Given the description of an element on the screen output the (x, y) to click on. 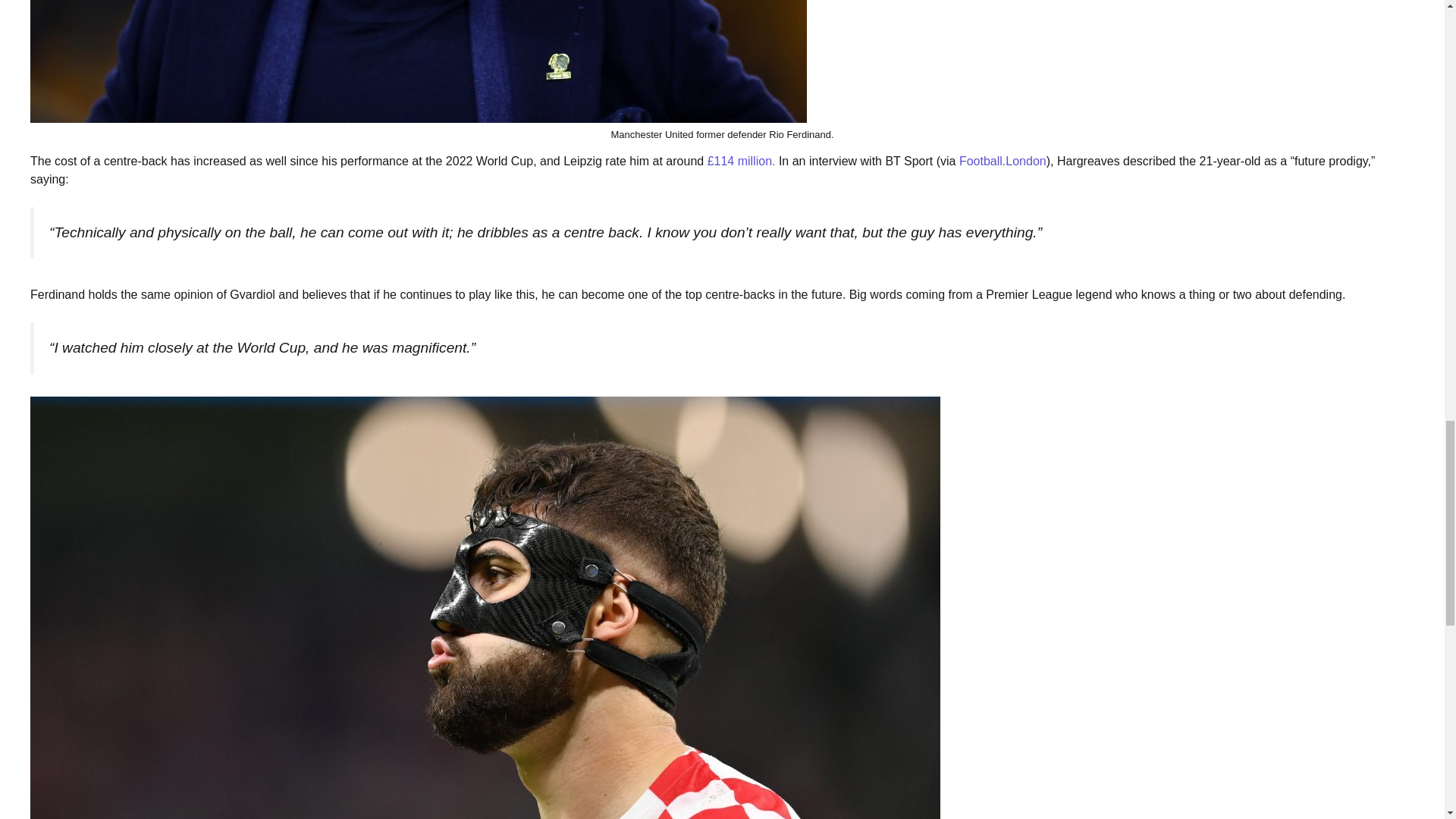
Football.London (1002, 160)
